Given the description of an element on the screen output the (x, y) to click on. 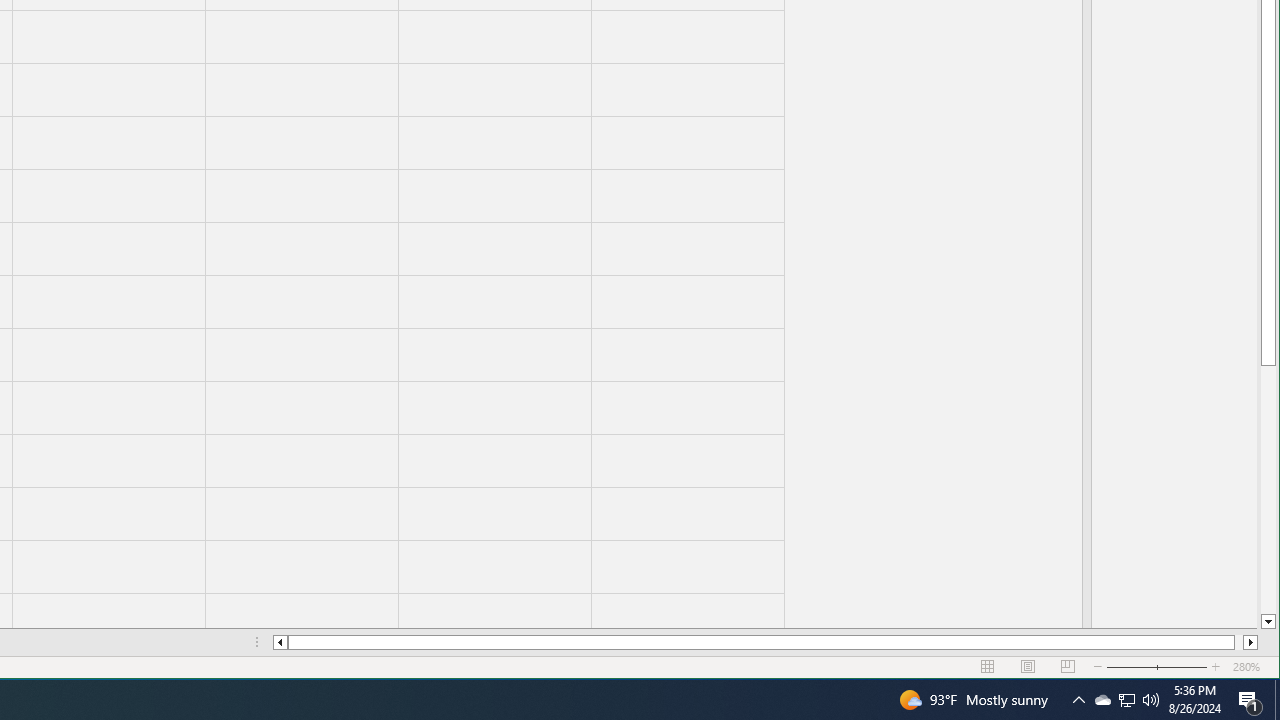
Show desktop (1277, 699)
Notification Chevron (1126, 699)
